Given the description of an element on the screen output the (x, y) to click on. 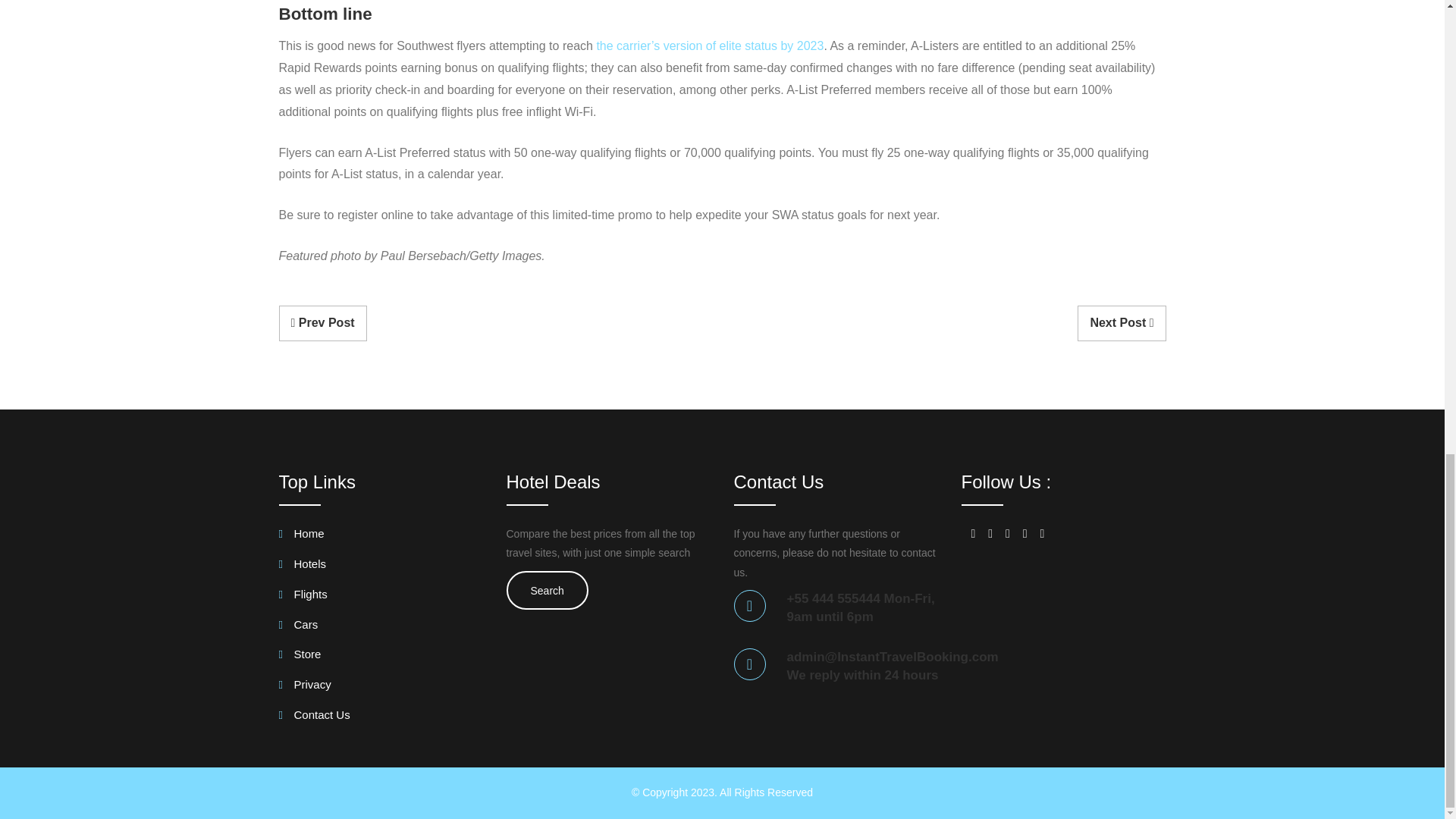
Hotels (302, 566)
Prev Post (322, 323)
Privacy (305, 687)
Cars (298, 627)
Store (300, 657)
Home (301, 535)
Flights (303, 597)
Next Post (1121, 323)
Contact Us (314, 717)
